Given the description of an element on the screen output the (x, y) to click on. 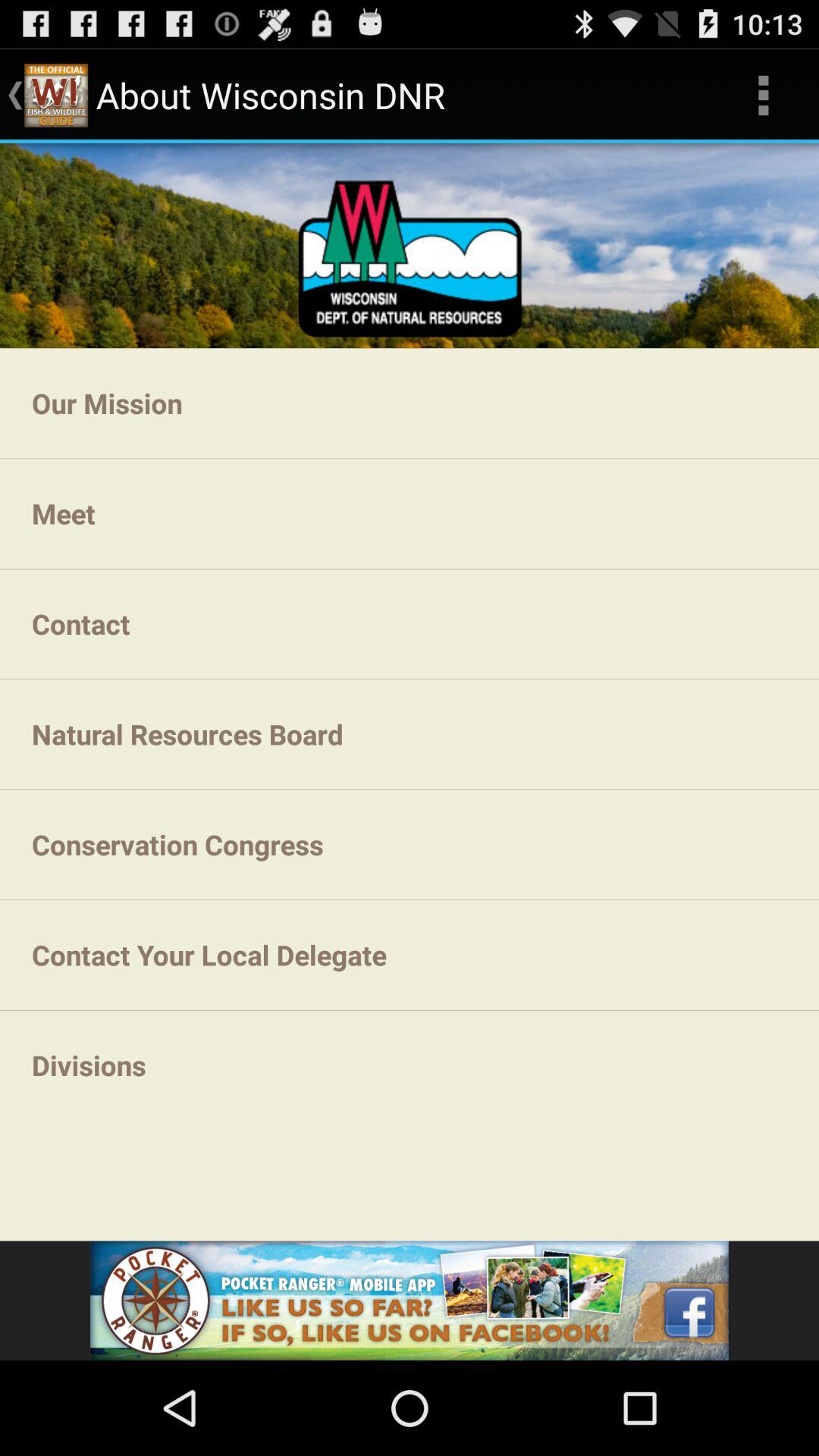
go to facebook (409, 1300)
